Given the description of an element on the screen output the (x, y) to click on. 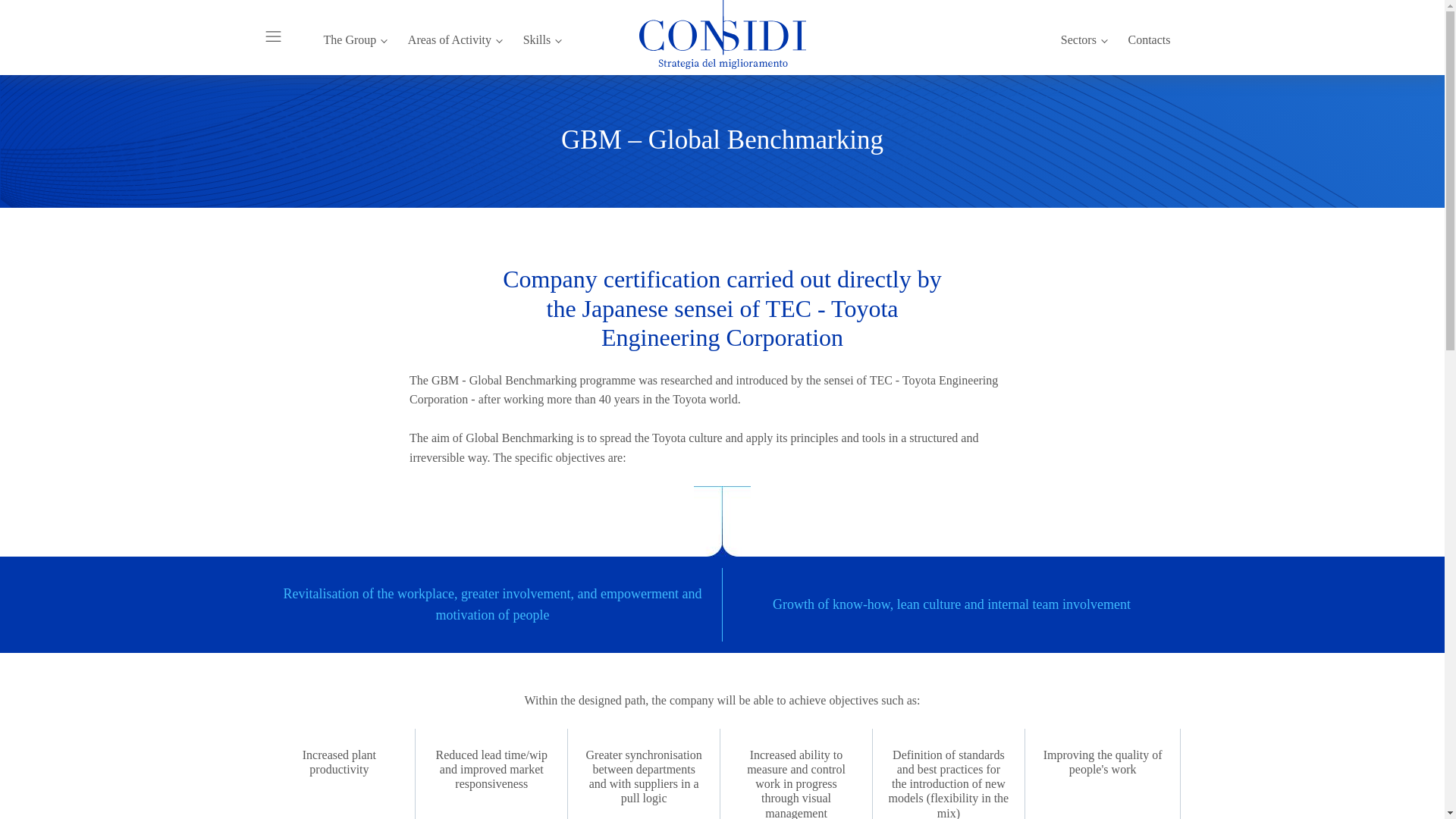
Sectors (1083, 36)
Areas of Activity (454, 36)
The Group (354, 36)
